Given the description of an element on the screen output the (x, y) to click on. 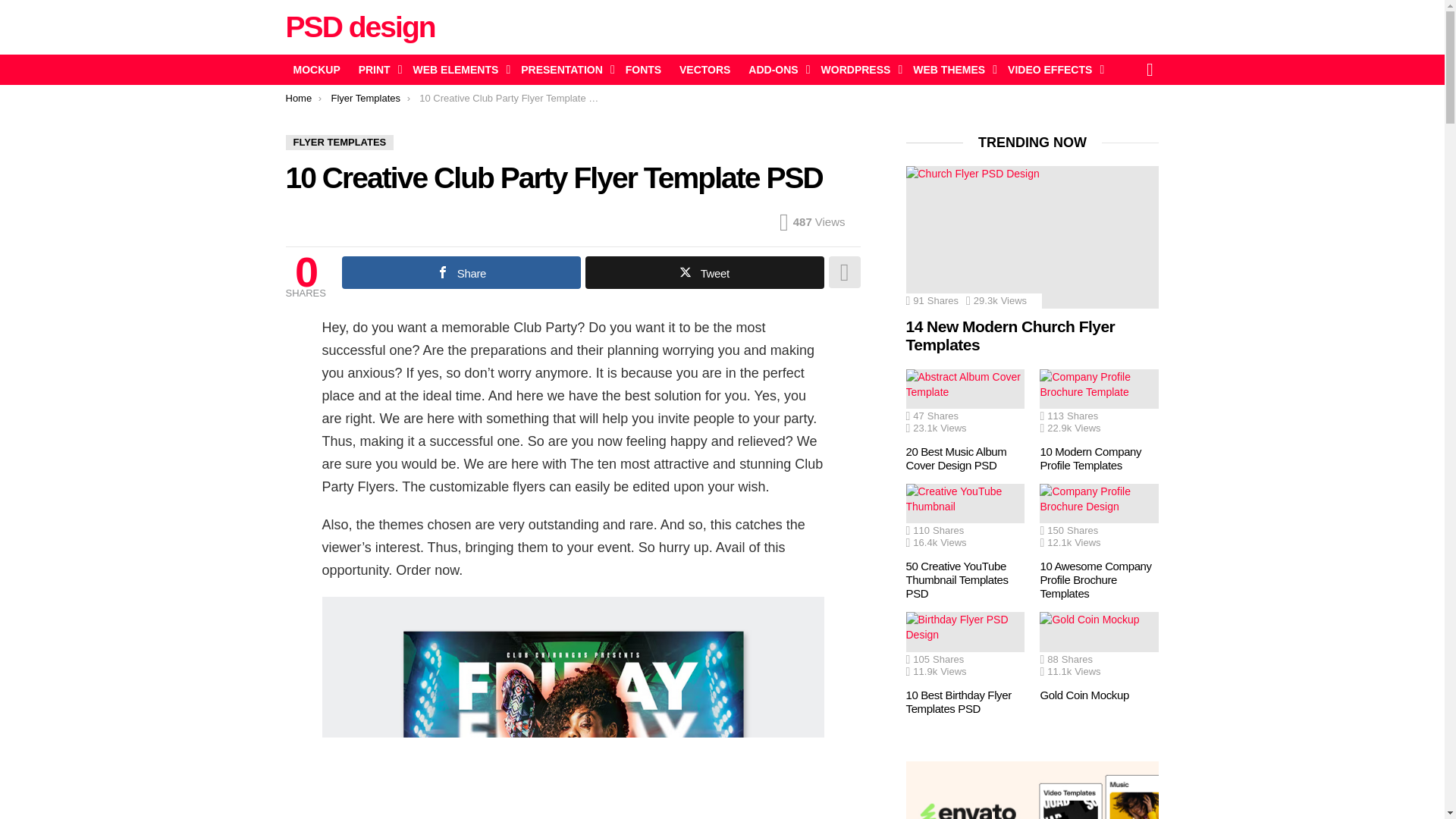
PSD design (359, 26)
FONTS (642, 69)
14 New Modern Church Flyer Templates (1031, 237)
ADD-ONS (775, 69)
PRESENTATION (563, 69)
10 Awesome Company Profile Brochure Templates (1098, 517)
WEB ELEMENTS (458, 69)
VECTORS (704, 69)
20 Best Music Album Cover Design PSD (965, 402)
50 Creative YouTube Thumbnail Templates PSD (965, 517)
WORDPRESS (857, 69)
PRINT (376, 69)
MOCKUP (316, 69)
10 Modern Company Profile Templates (1098, 402)
